Given the description of an element on the screen output the (x, y) to click on. 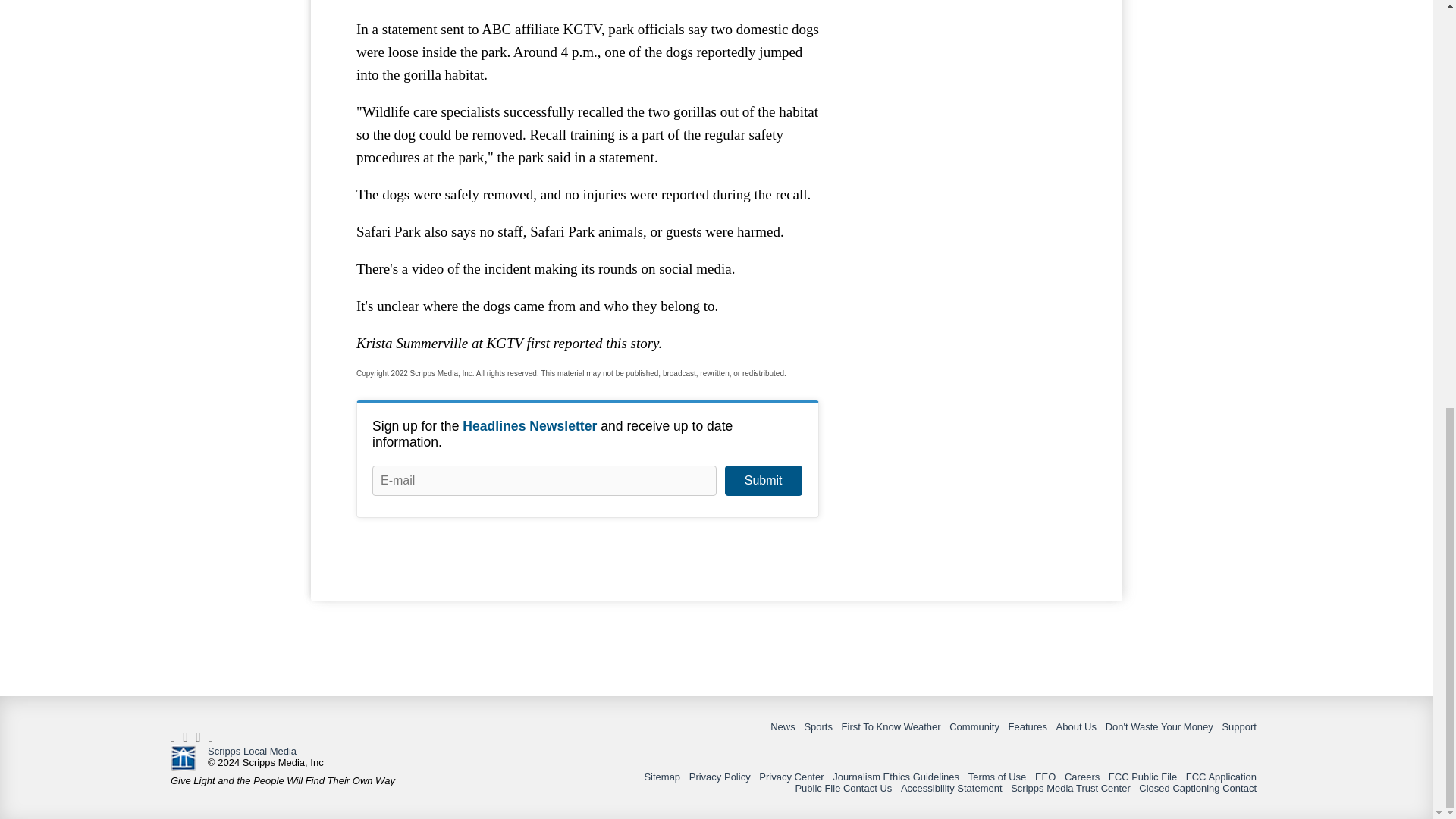
Submit (763, 481)
